Given the description of an element on the screen output the (x, y) to click on. 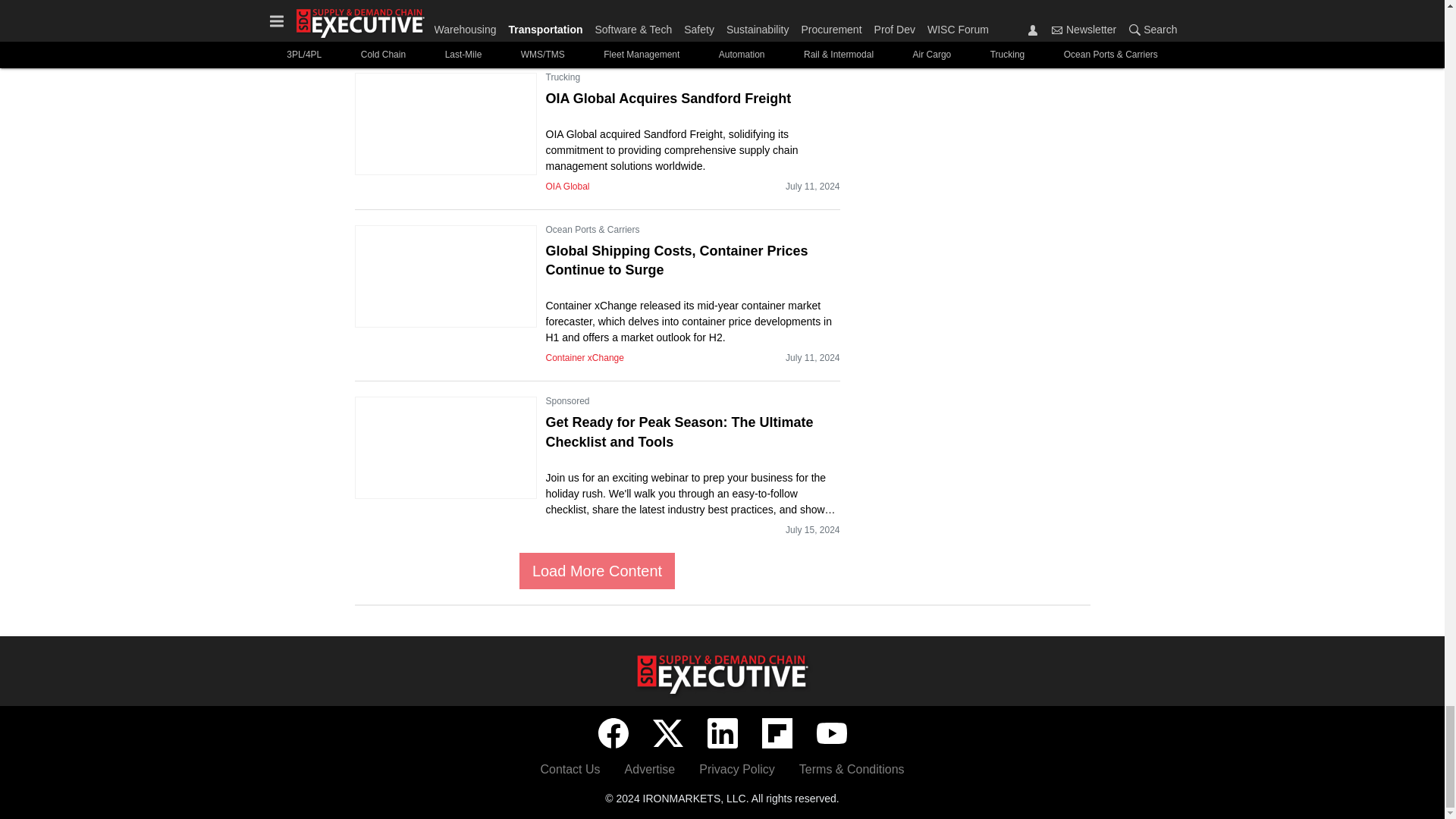
Facebook icon (611, 733)
LinkedIn icon (721, 733)
Flipboard icon (776, 733)
Twitter X icon (667, 733)
YouTube icon (830, 733)
